Given the description of an element on the screen output the (x, y) to click on. 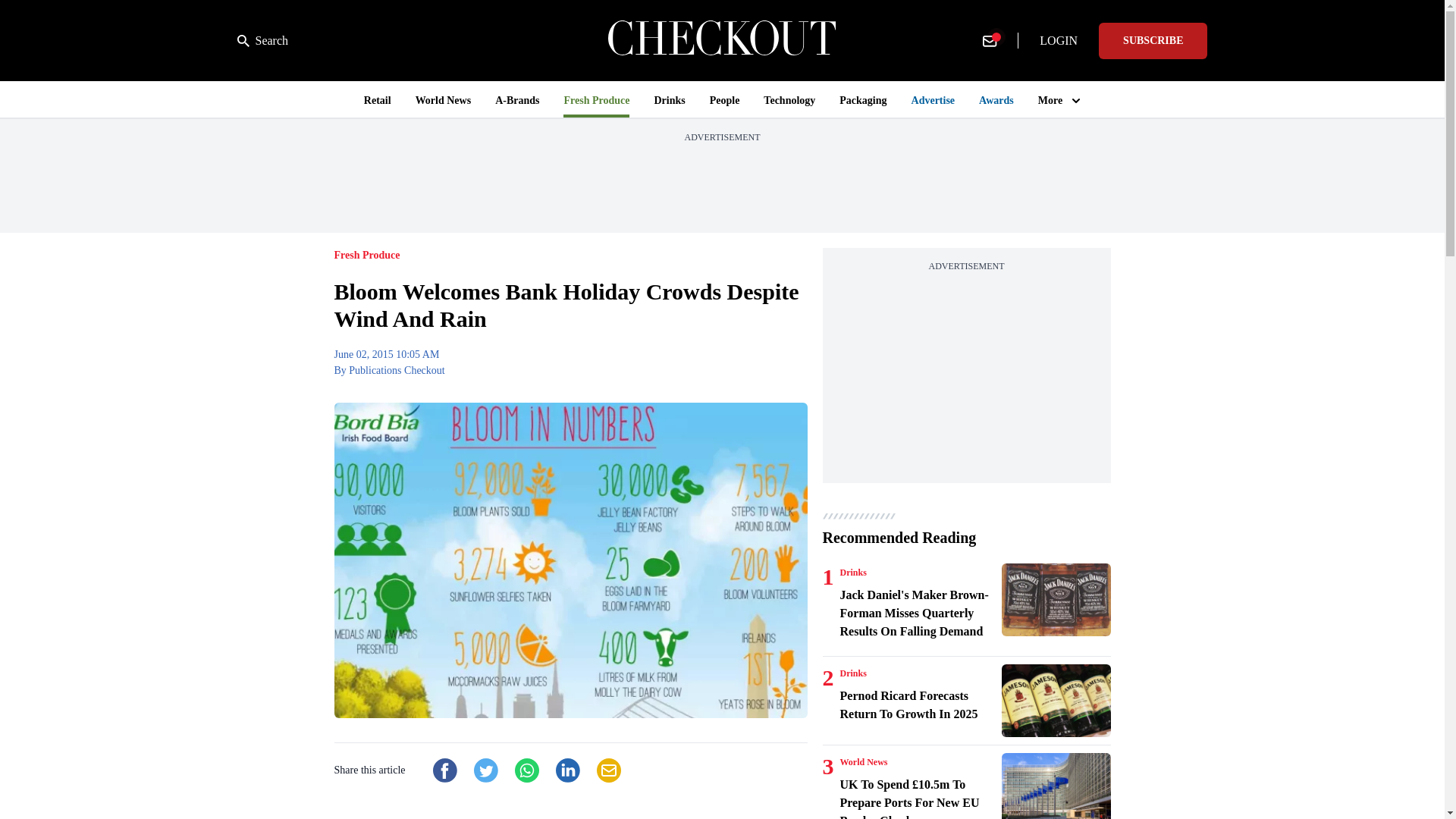
Drinks (853, 572)
Search (261, 40)
LOGIN (1058, 40)
Checkout (721, 40)
World News (864, 761)
Drinks (853, 673)
Pernod Ricard Forecasts Return To Growth In 2025 (1055, 700)
Pernod Ricard Forecasts Return To Growth In 2025 (917, 705)
